Given the description of an element on the screen output the (x, y) to click on. 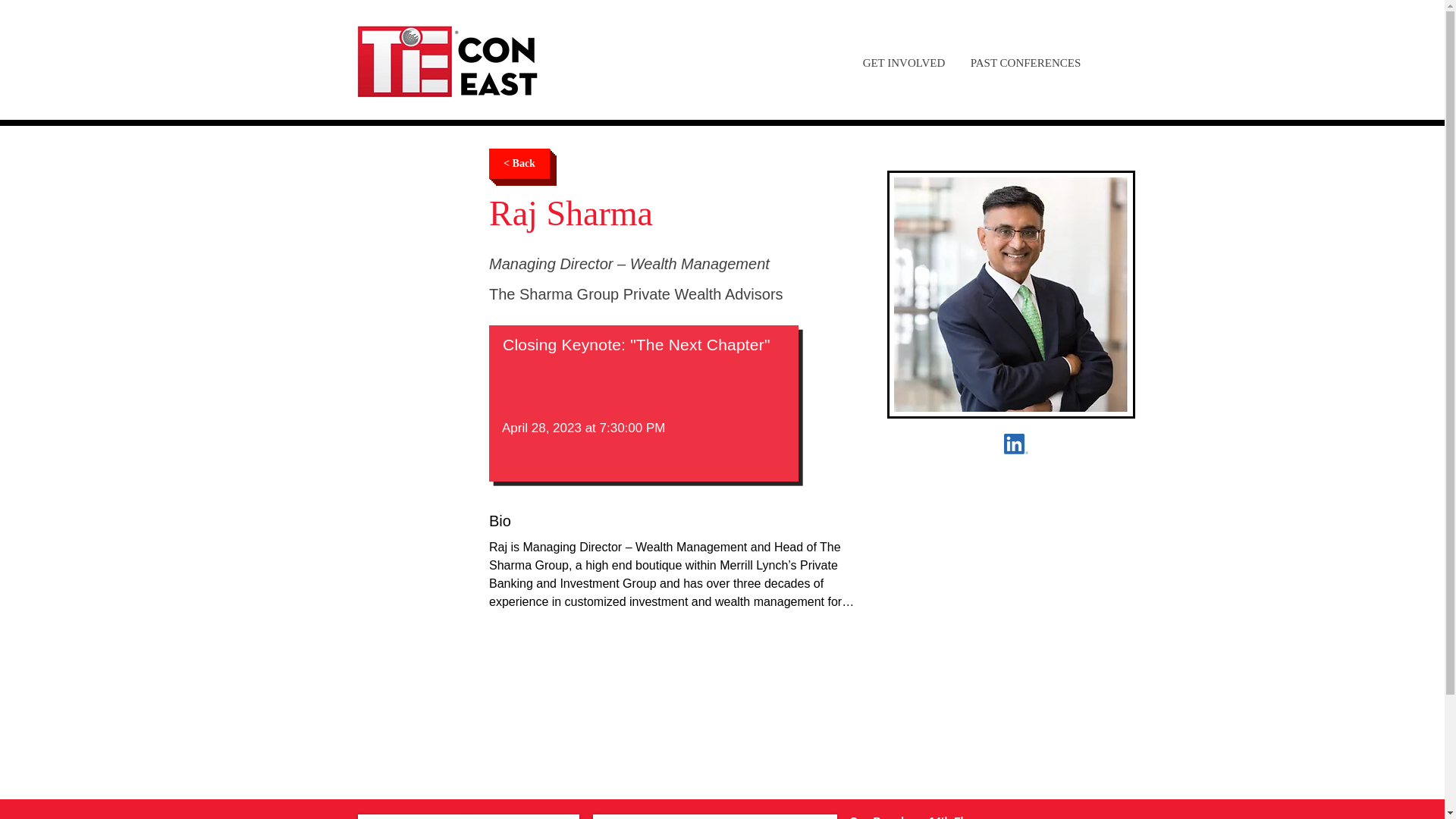
TiECON East 2021 (448, 62)
GET INVOLVED (903, 62)
Raj Sharma (1015, 444)
